Given the description of an element on the screen output the (x, y) to click on. 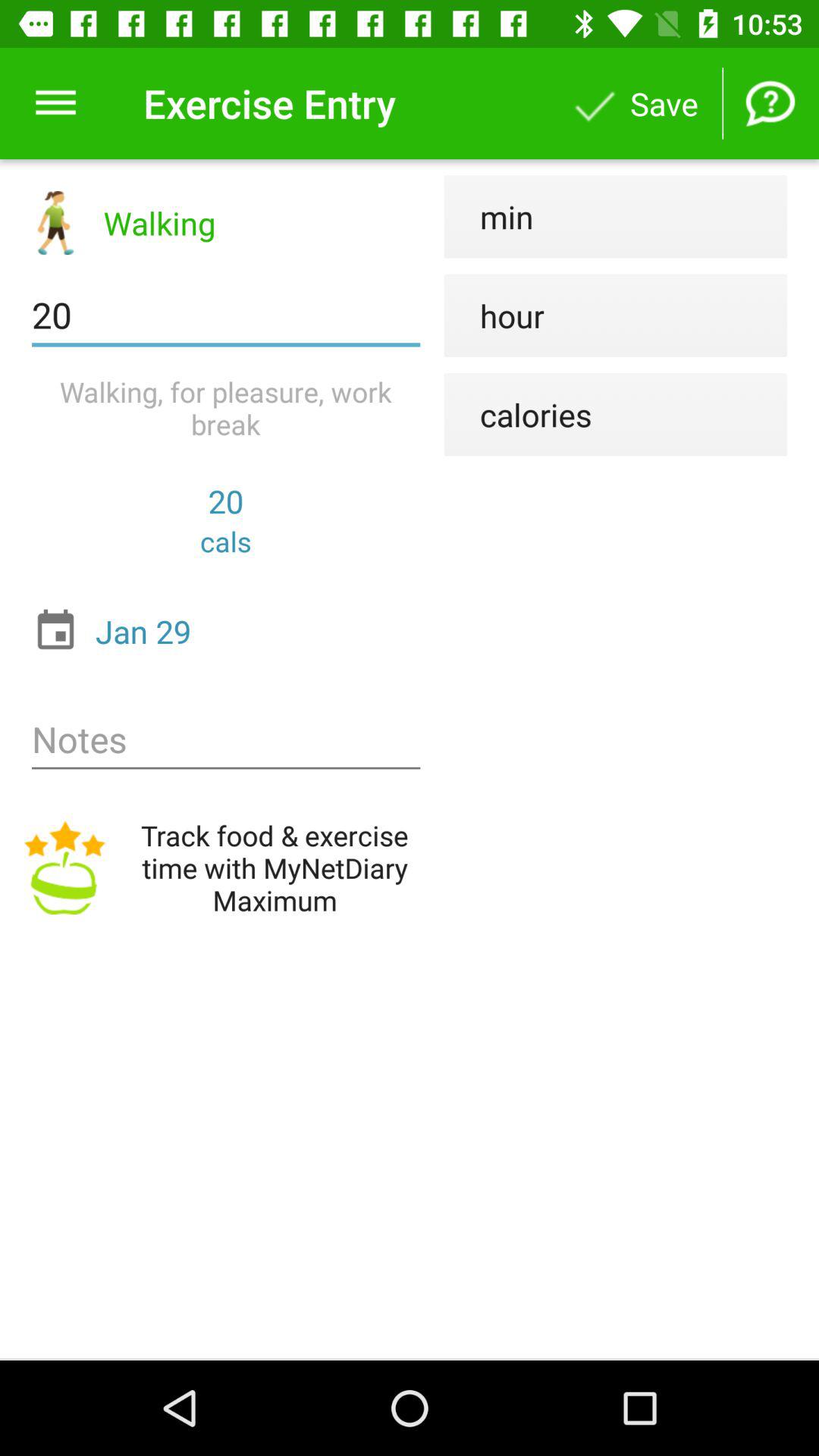
swipe to calories item (518, 414)
